Given the description of an element on the screen output the (x, y) to click on. 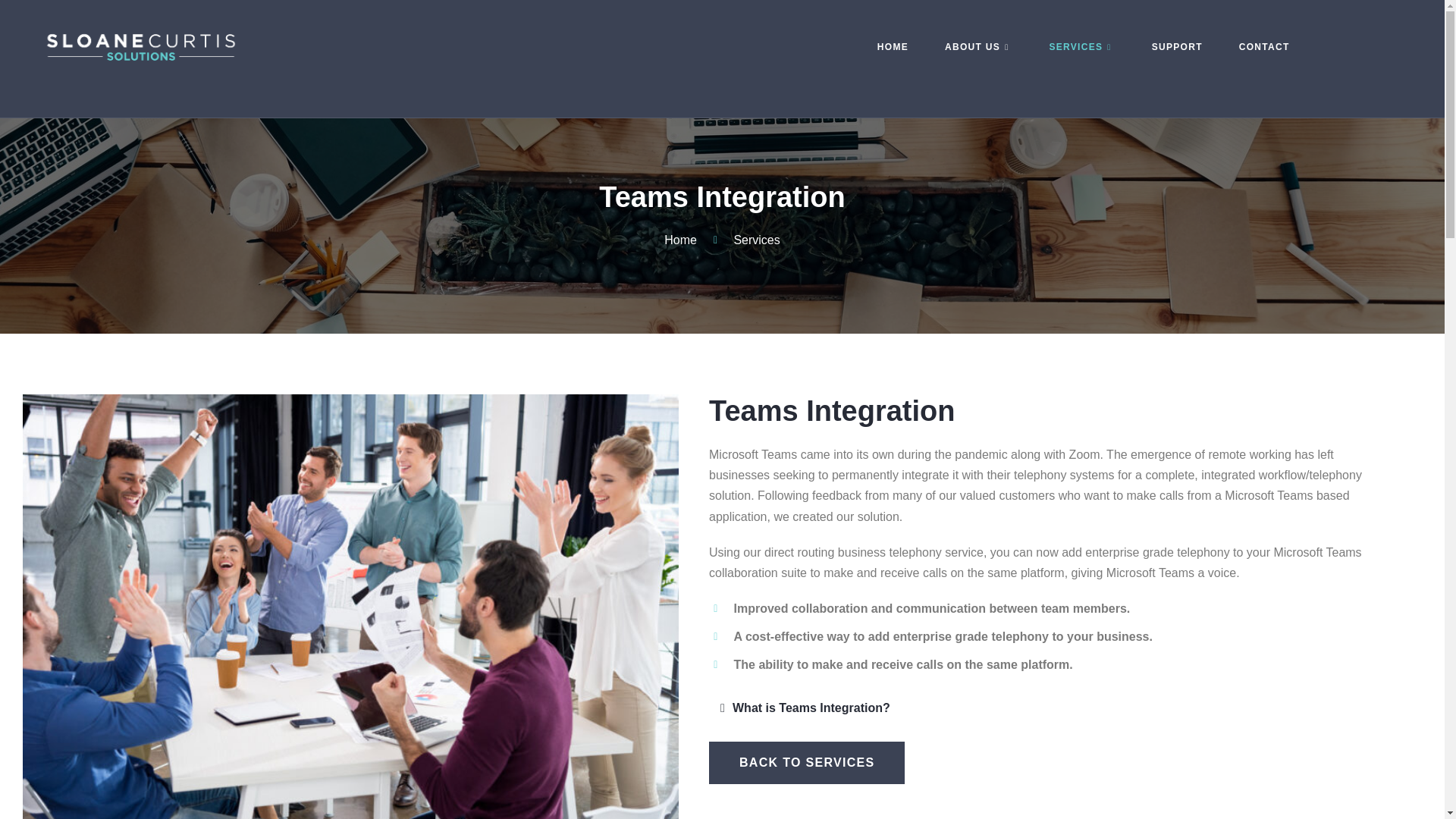
SloaneCurtis-Logo-white-light-blue-horizontal (140, 58)
CONTACT (1264, 46)
SERVICES (1081, 46)
What is Teams Integration? (810, 707)
SUPPORT (1177, 46)
ABOUT US (978, 46)
BACK TO SERVICES (806, 762)
Services (744, 240)
